Given the description of an element on the screen output the (x, y) to click on. 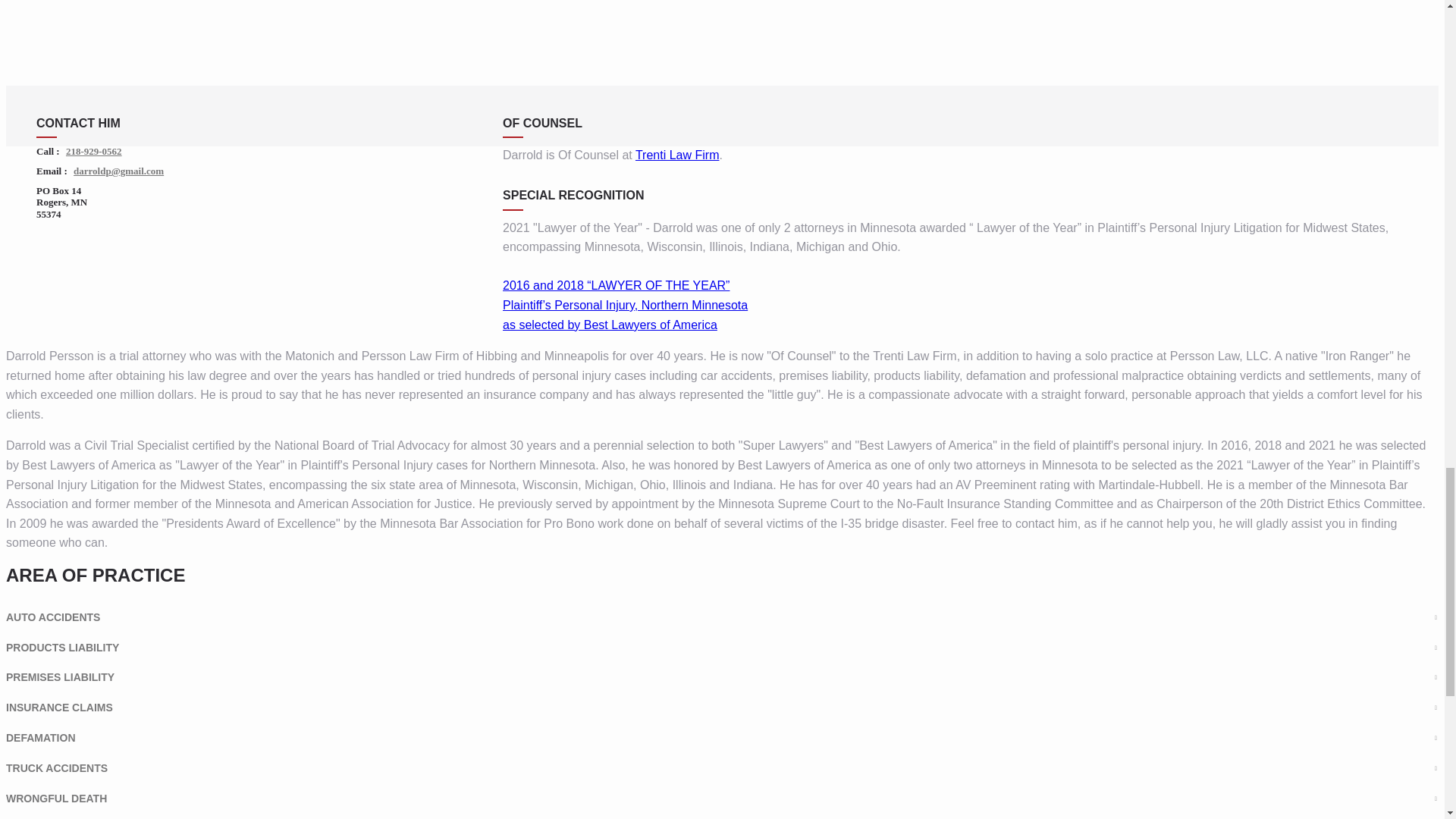
Trenti Law Firm (676, 154)
Darrold Persson Attorney (721, 37)
218-929-0562 (92, 151)
